Given the description of an element on the screen output the (x, y) to click on. 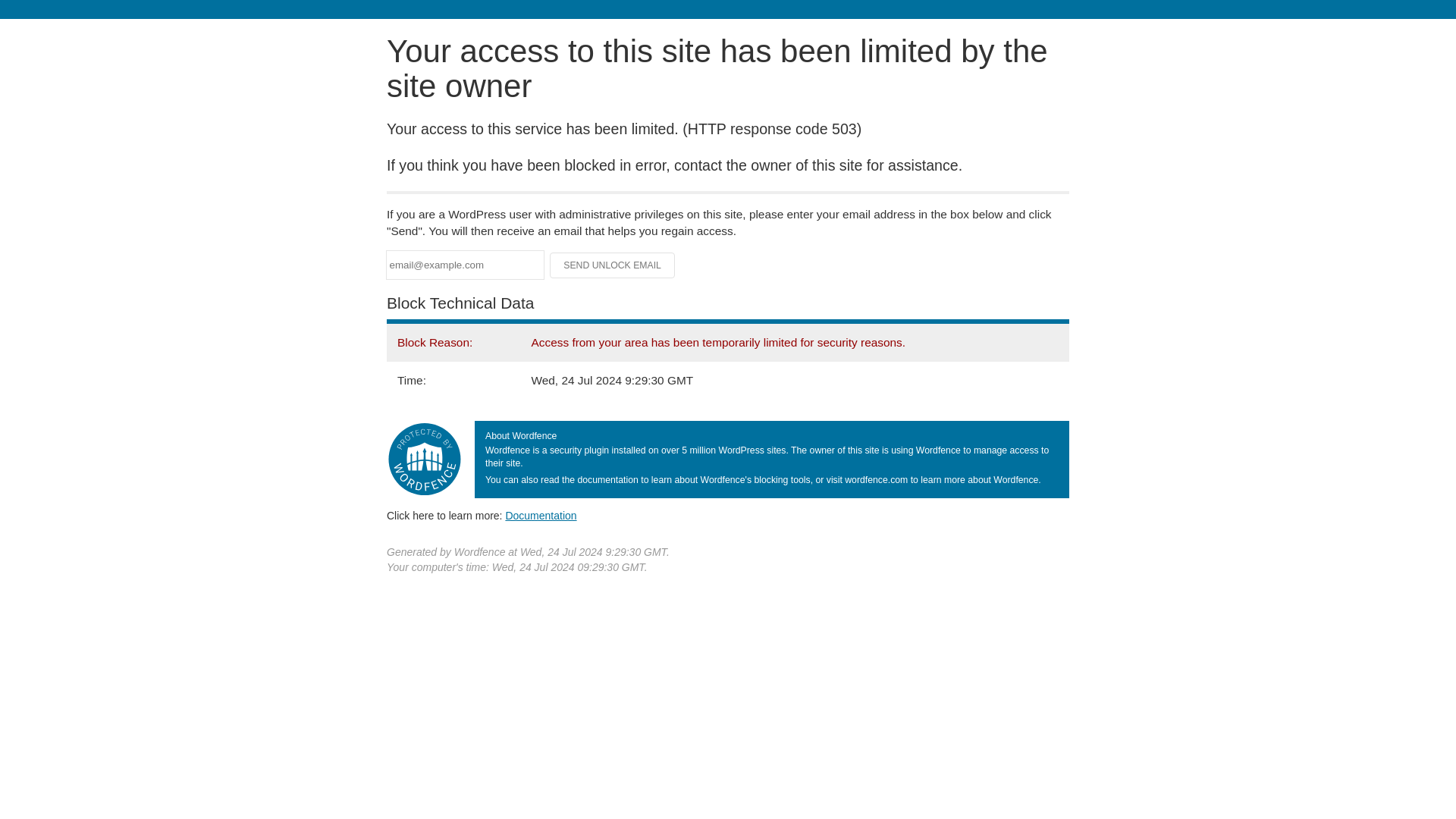
Send Unlock Email (612, 265)
Documentation (540, 515)
Send Unlock Email (612, 265)
